Given the description of an element on the screen output the (x, y) to click on. 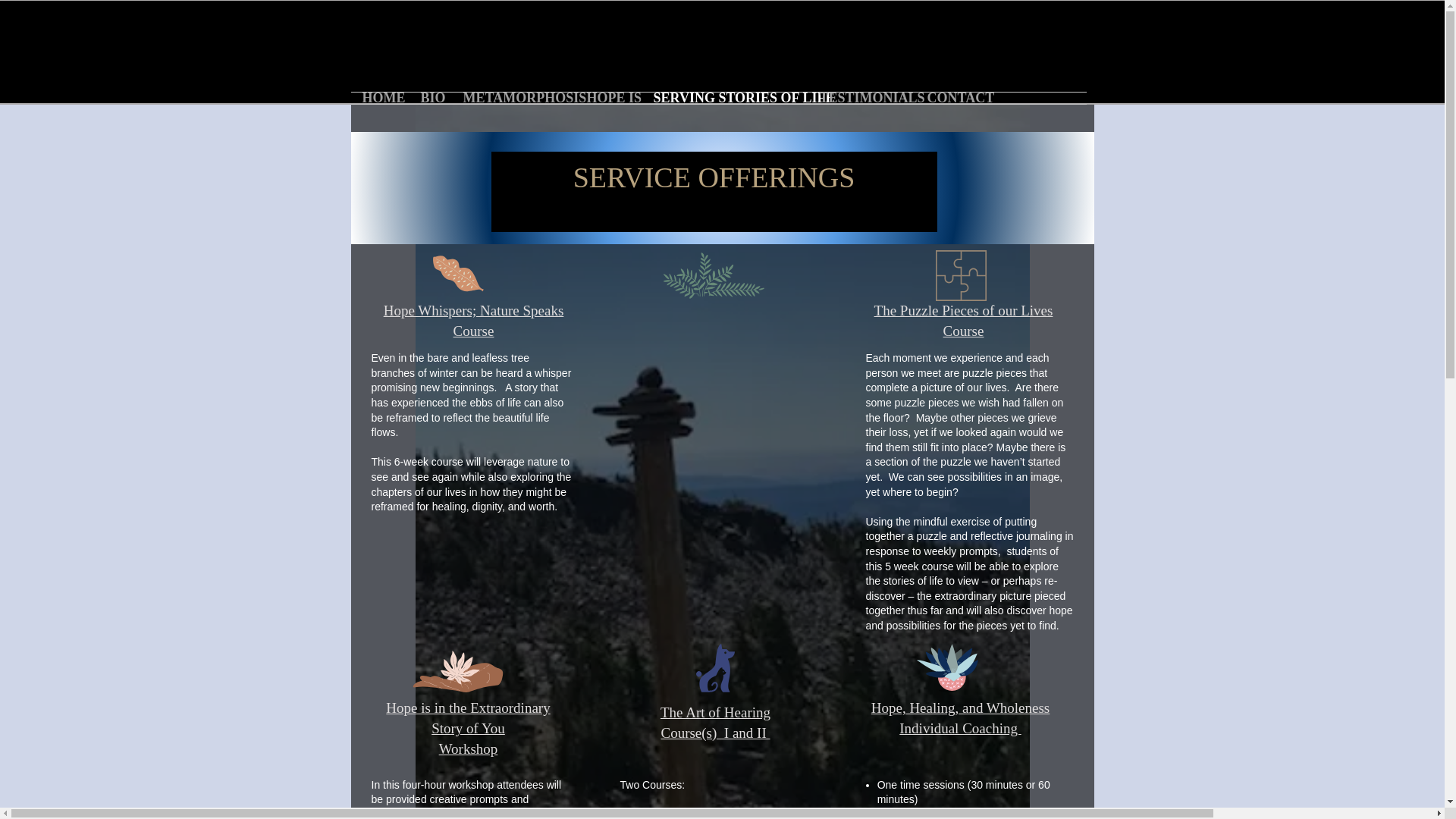
BIO (430, 98)
METAMORPHOSIS (513, 98)
TESTIMONIALS (861, 98)
SERVING STORIES OF LIFE (725, 98)
HOPE IS (608, 98)
CONTACT (953, 98)
HOME (379, 98)
